Given the description of an element on the screen output the (x, y) to click on. 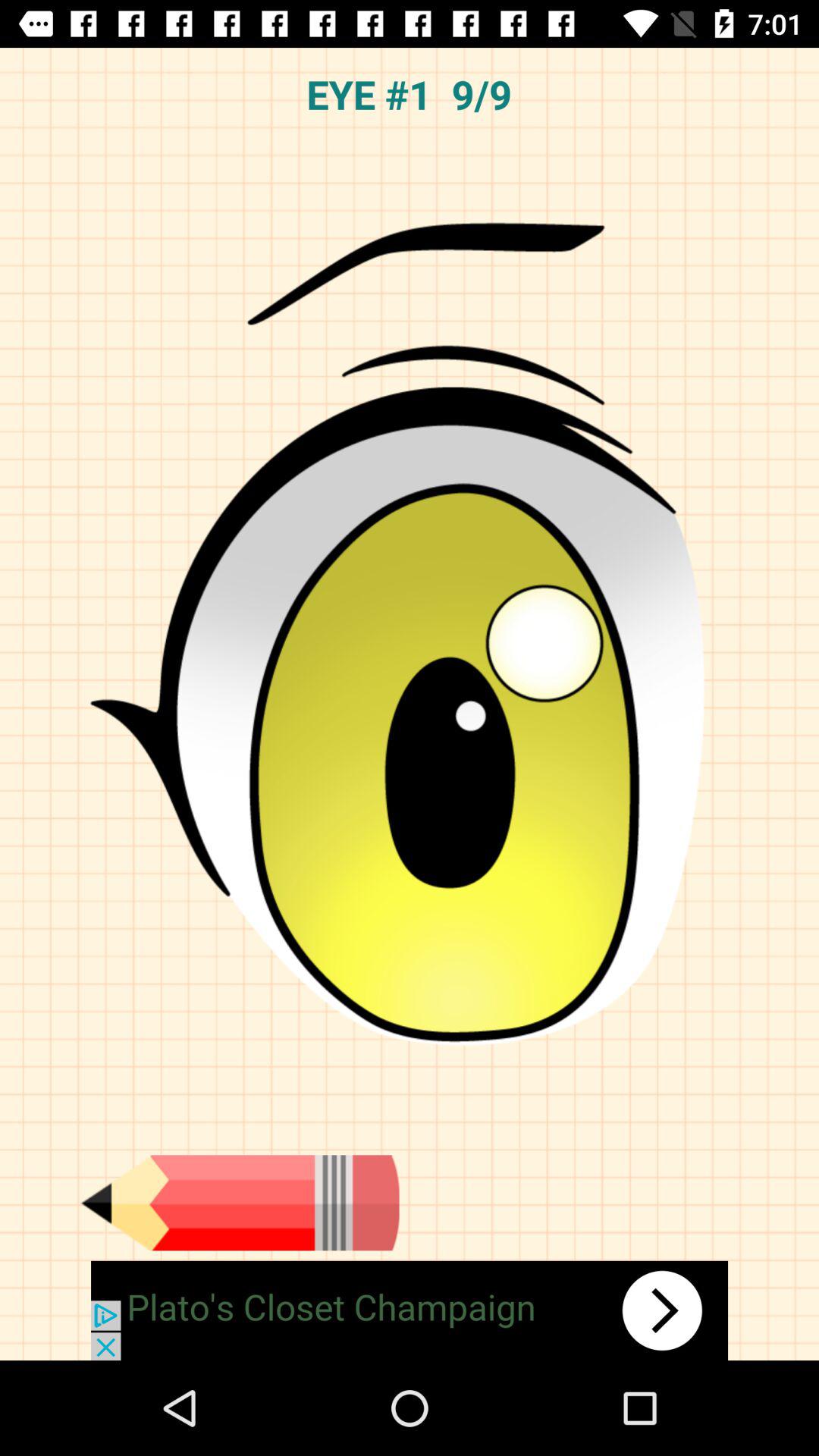
advertisement (409, 1310)
